Given the description of an element on the screen output the (x, y) to click on. 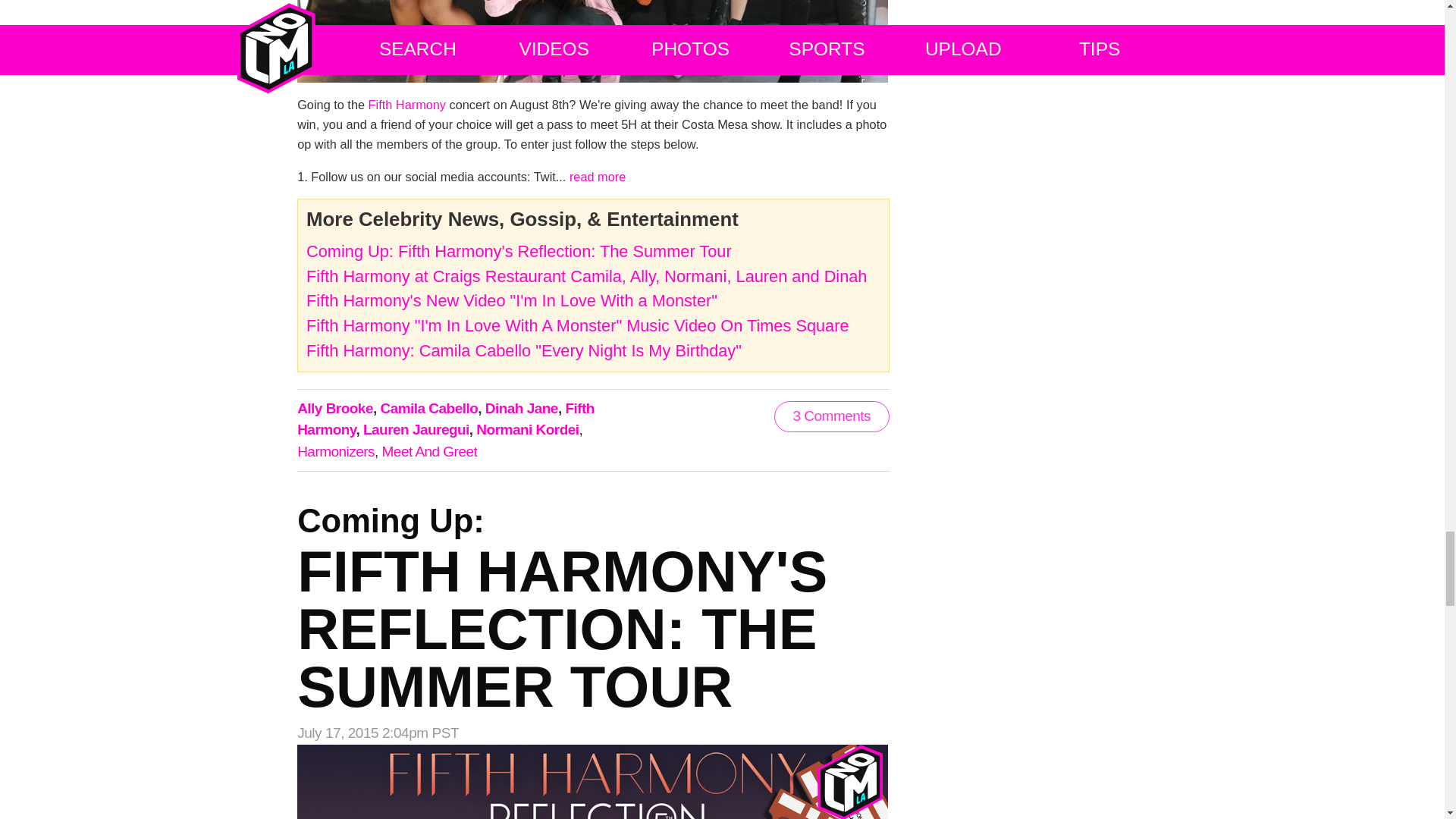
Fifth Harmony (406, 104)
